Given the description of an element on the screen output the (x, y) to click on. 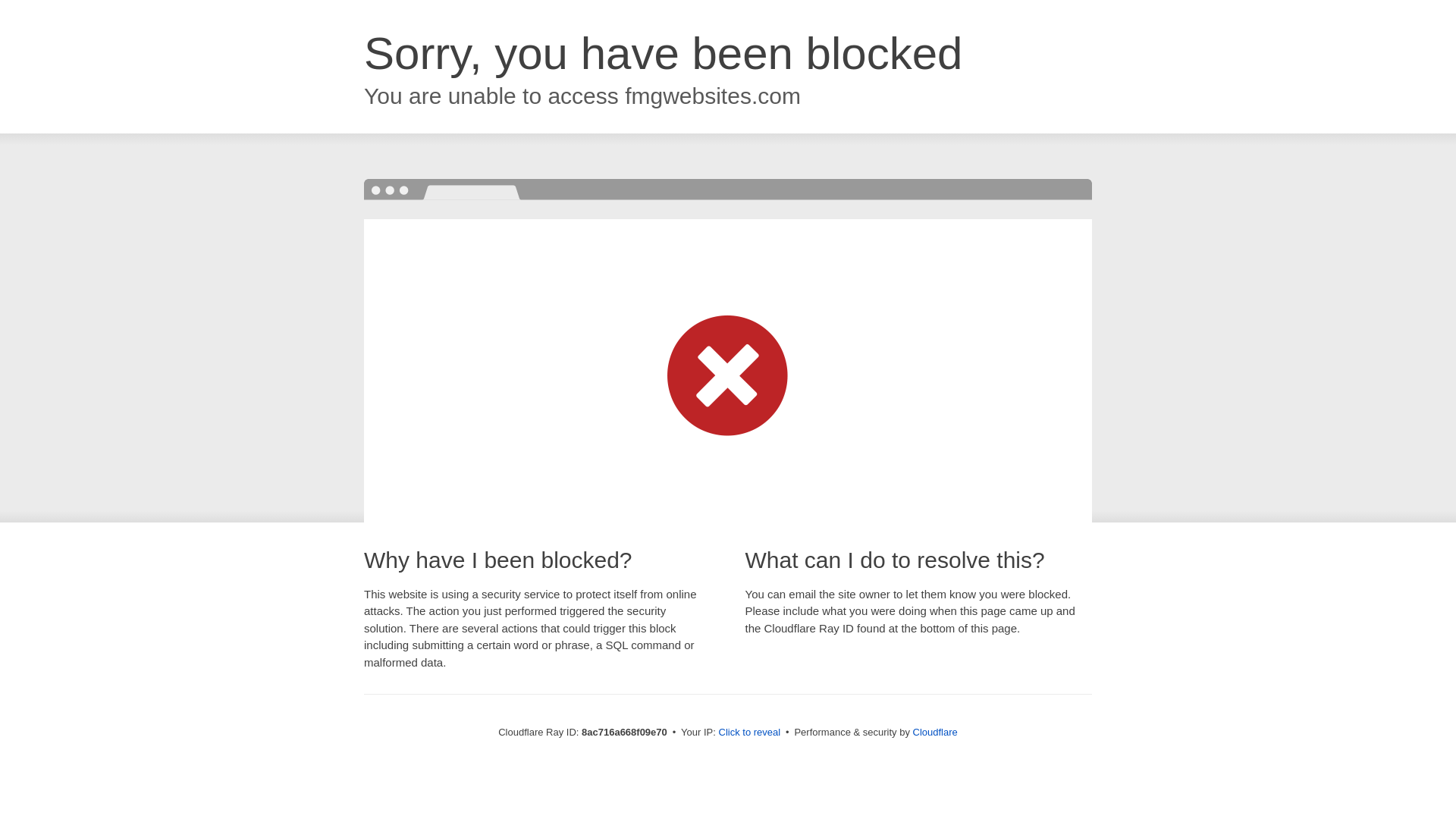
Click to reveal (749, 732)
Cloudflare (935, 731)
